Given the description of an element on the screen output the (x, y) to click on. 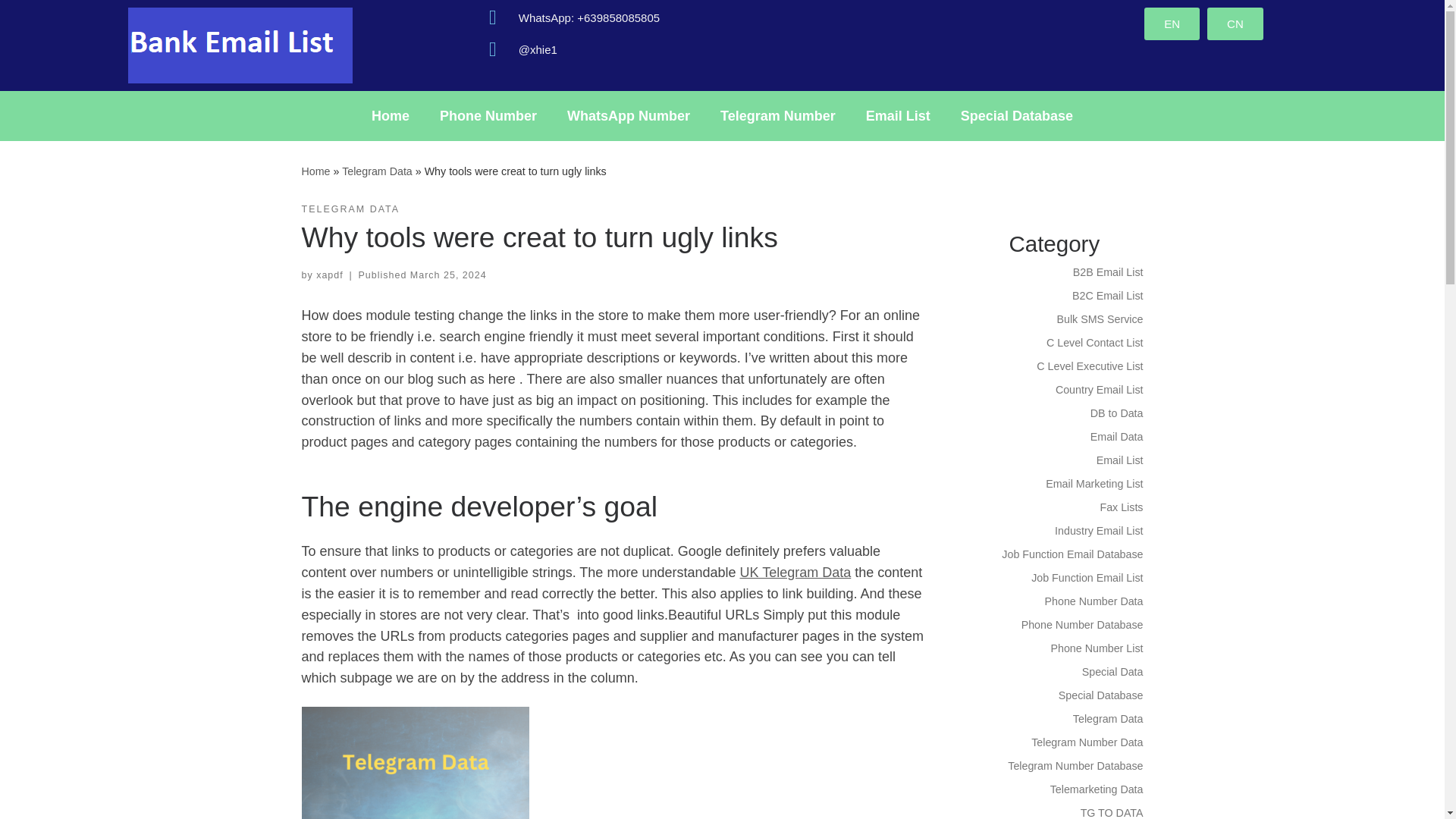
Bank Email List (315, 171)
EN (1171, 23)
Special Database (1015, 115)
Telegram Data (377, 171)
Telegram Number (777, 115)
Home (390, 115)
Email List (897, 115)
Phone Number (488, 115)
WhatsApp Number (627, 115)
Telegram Data (377, 171)
